Given the description of an element on the screen output the (x, y) to click on. 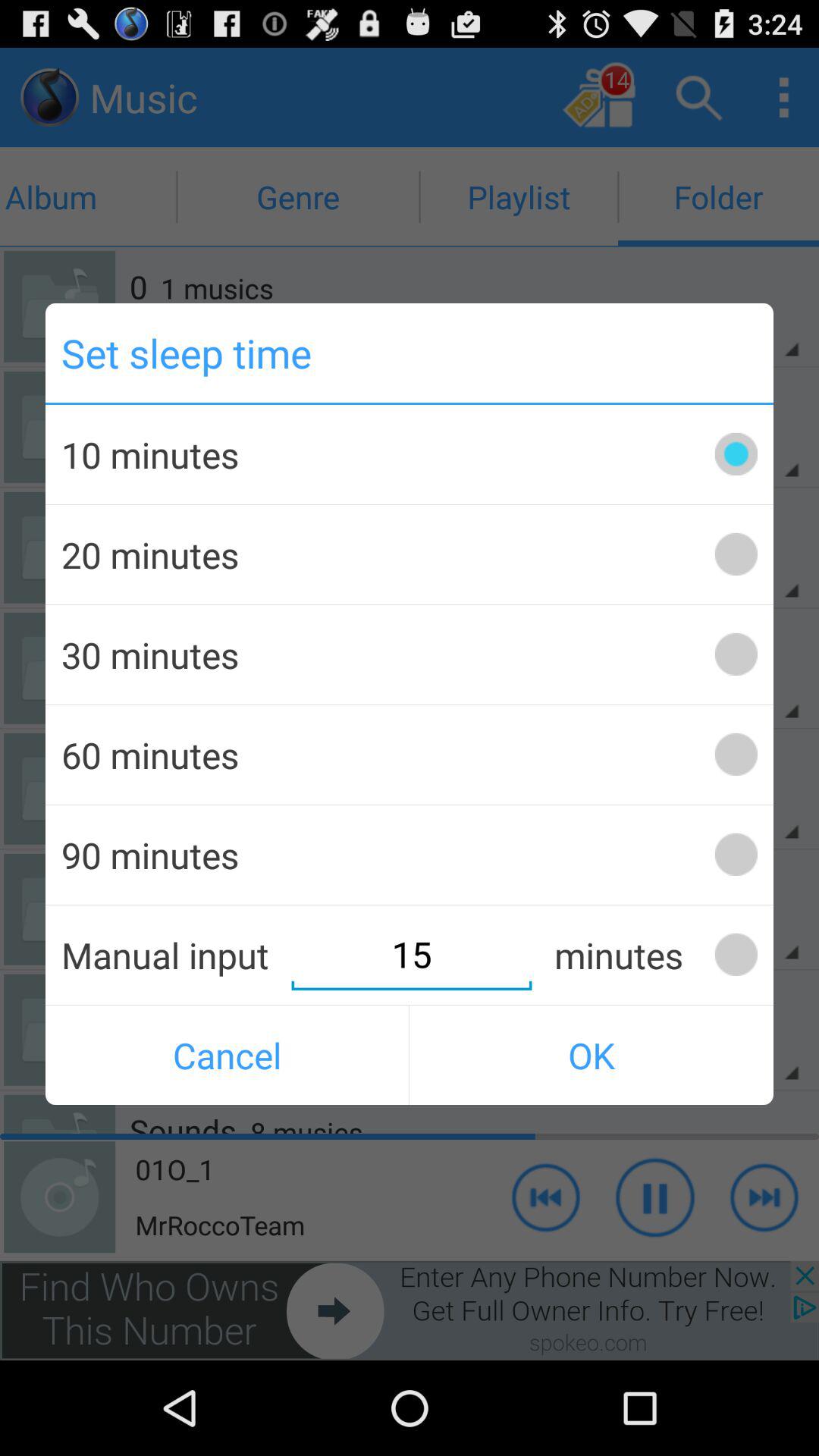
switch autoplay option (735, 454)
